Given the description of an element on the screen output the (x, y) to click on. 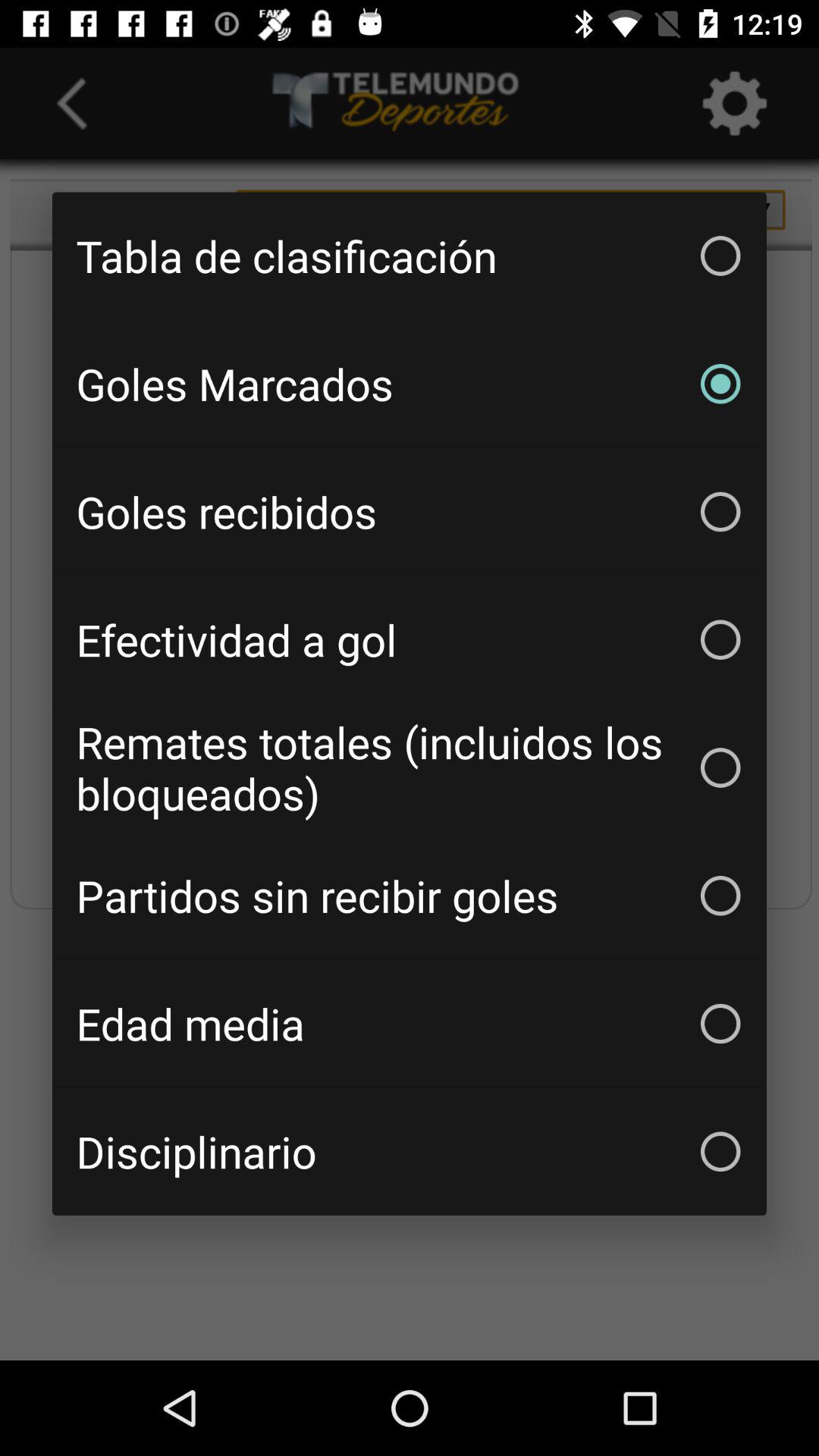
click the remates totales incluidos (409, 767)
